Given the description of an element on the screen output the (x, y) to click on. 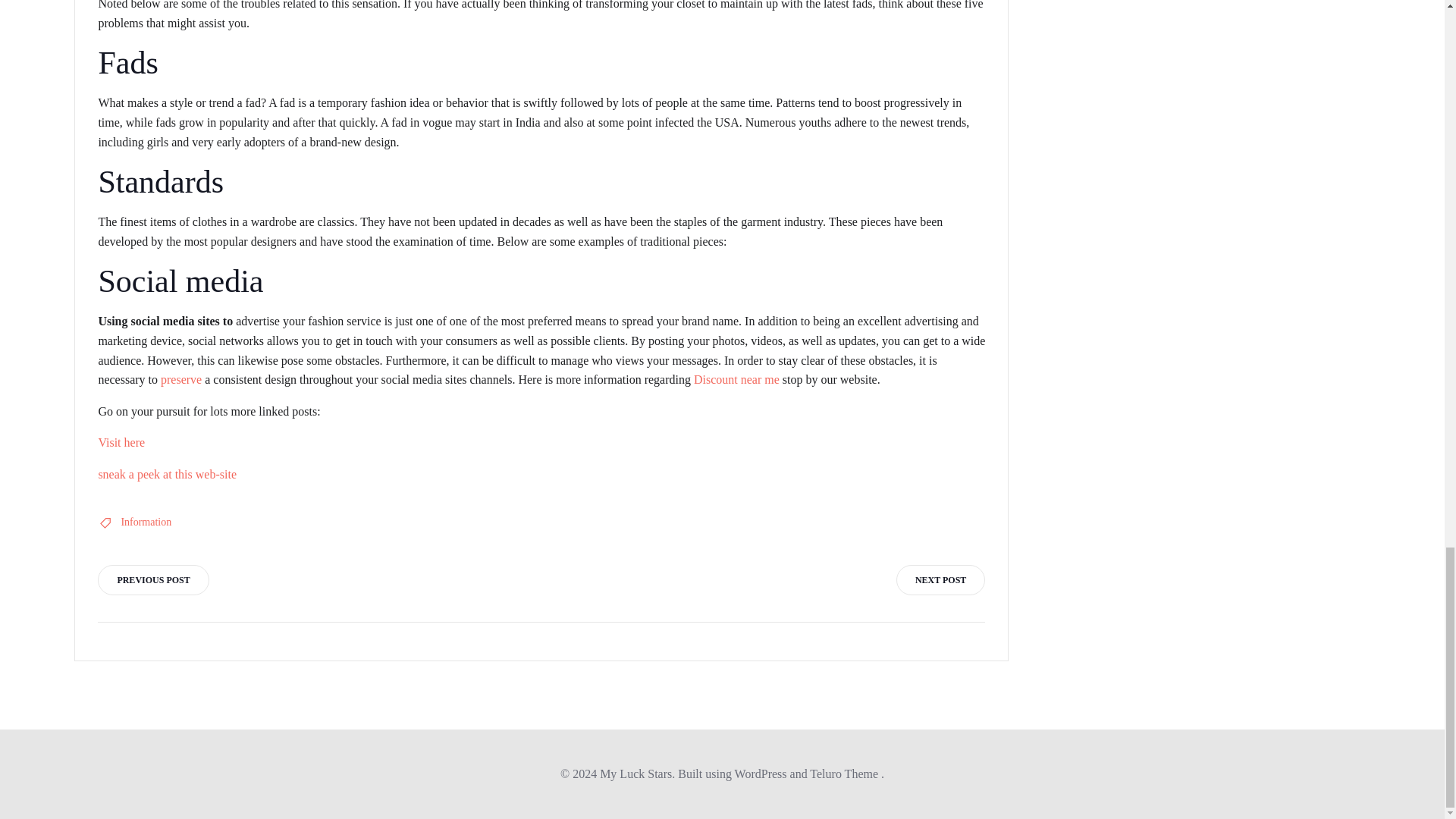
Discount near me (736, 379)
sneak a peek at this web-site (166, 473)
Information (145, 522)
Tag: Information (145, 522)
Visit here (120, 441)
PREVIOUS POST (152, 580)
NEXT POST (940, 580)
preserve (181, 379)
